Given the description of an element on the screen output the (x, y) to click on. 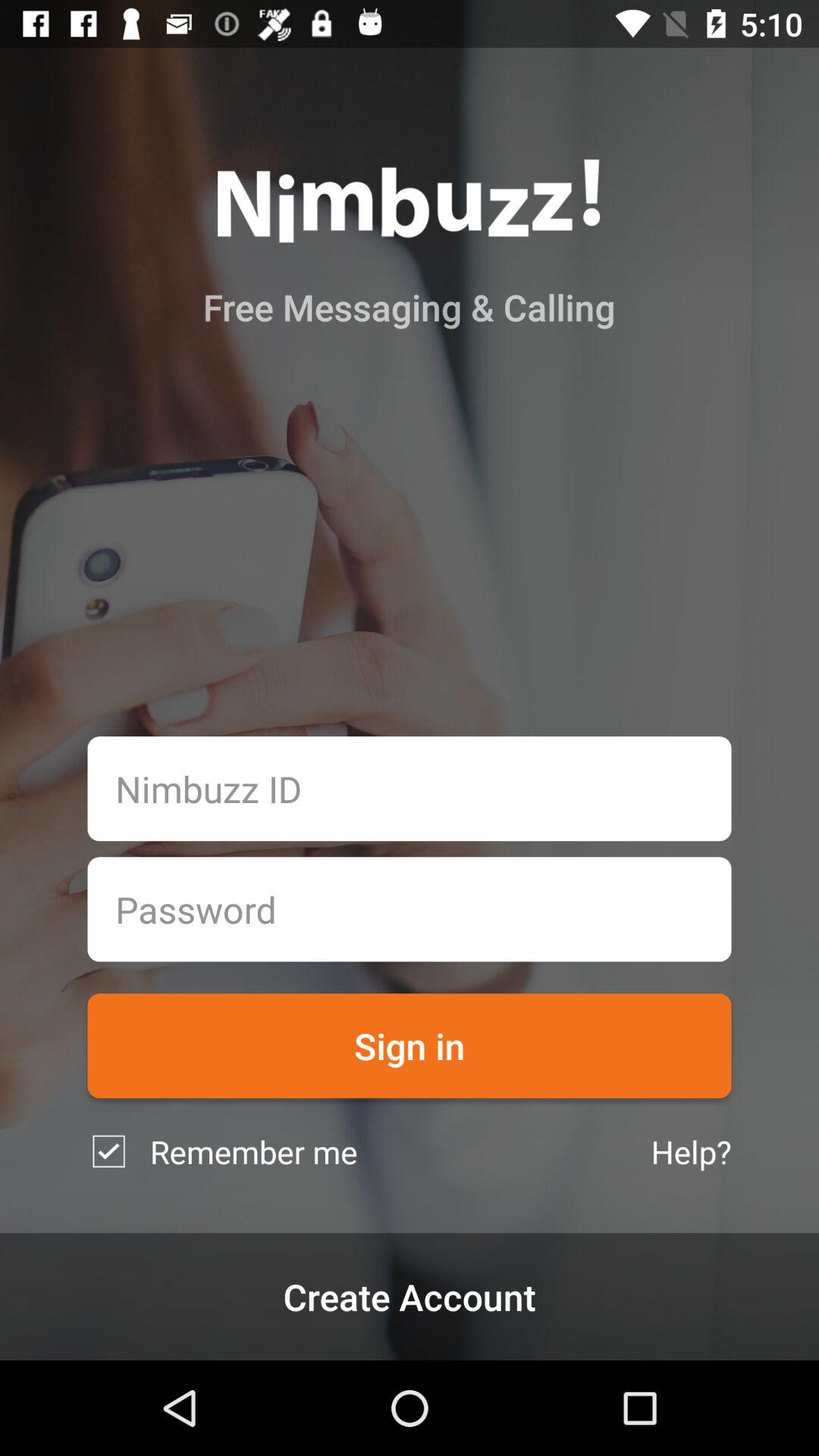
enter password (409, 909)
